Given the description of an element on the screen output the (x, y) to click on. 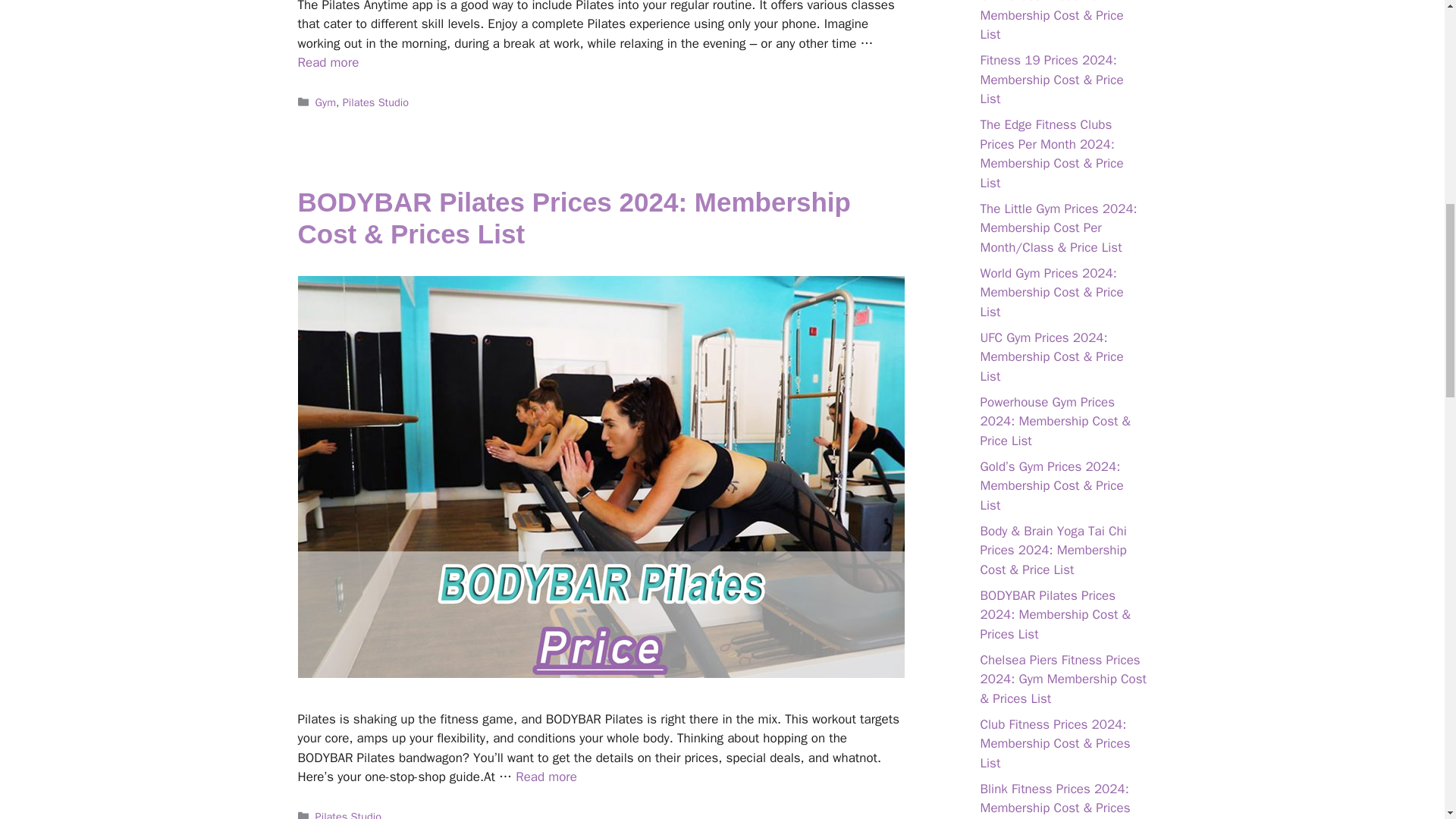
Scroll back to top (1406, 720)
